Given the description of an element on the screen output the (x, y) to click on. 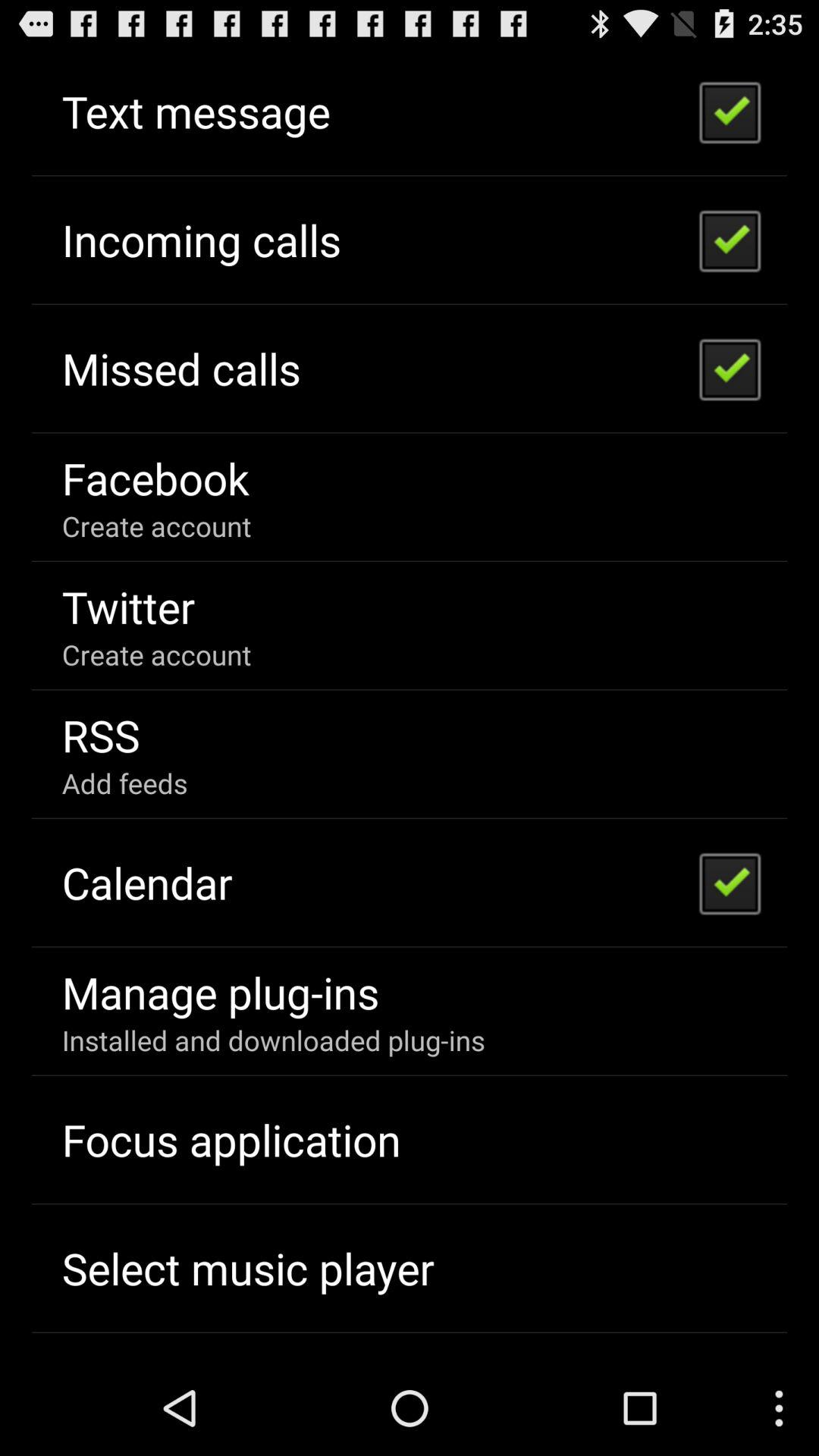
turn off the select music player item (247, 1267)
